Given the description of an element on the screen output the (x, y) to click on. 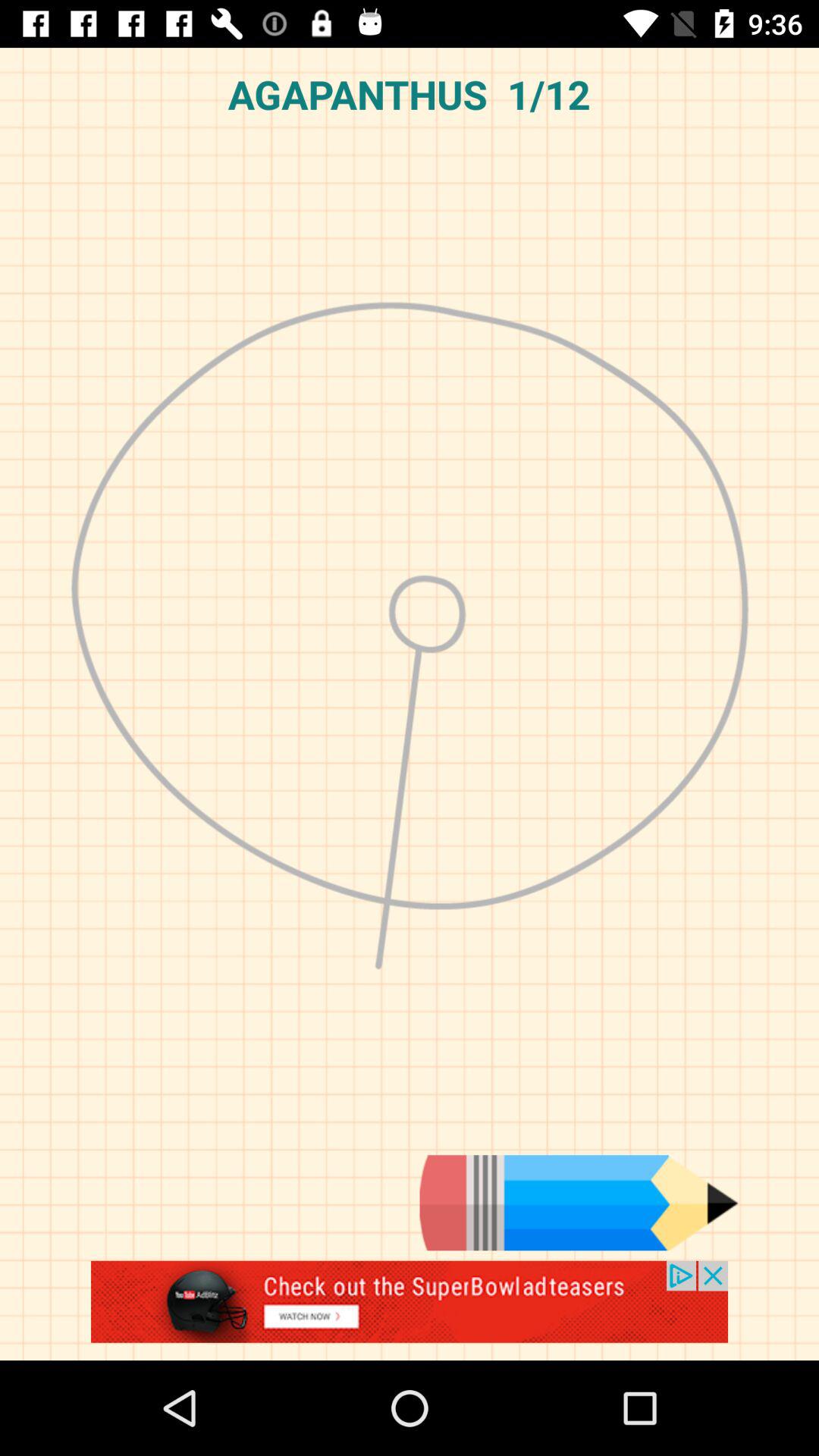
advertisement (409, 1310)
